Given the description of an element on the screen output the (x, y) to click on. 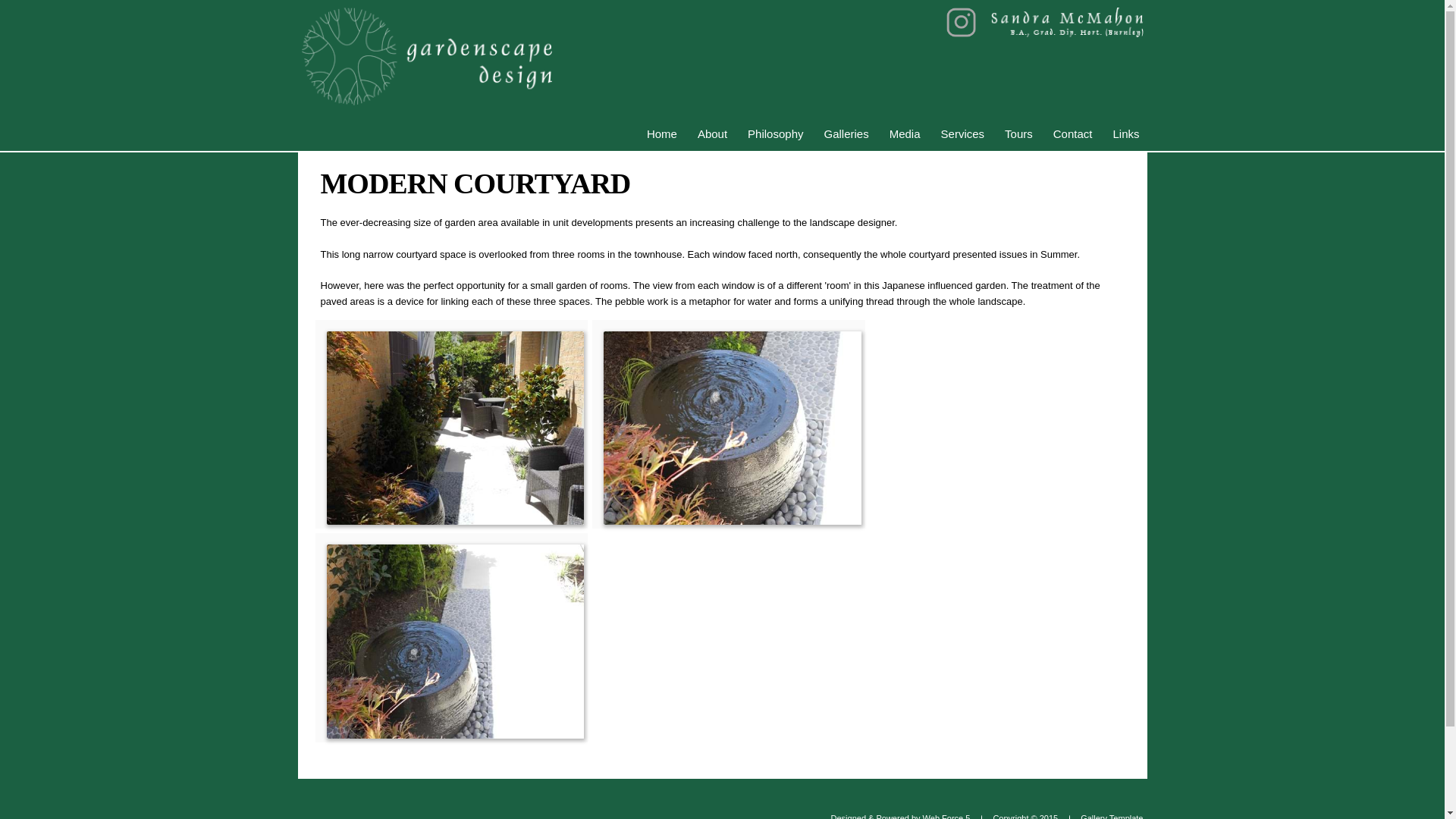
Contact (1072, 133)
Services (962, 133)
Philosophy (775, 133)
Gallery Template (1105, 806)
Galleries (845, 133)
Links (1125, 133)
Tours (1018, 133)
Media (905, 133)
About (712, 133)
Home (661, 133)
